Given the description of an element on the screen output the (x, y) to click on. 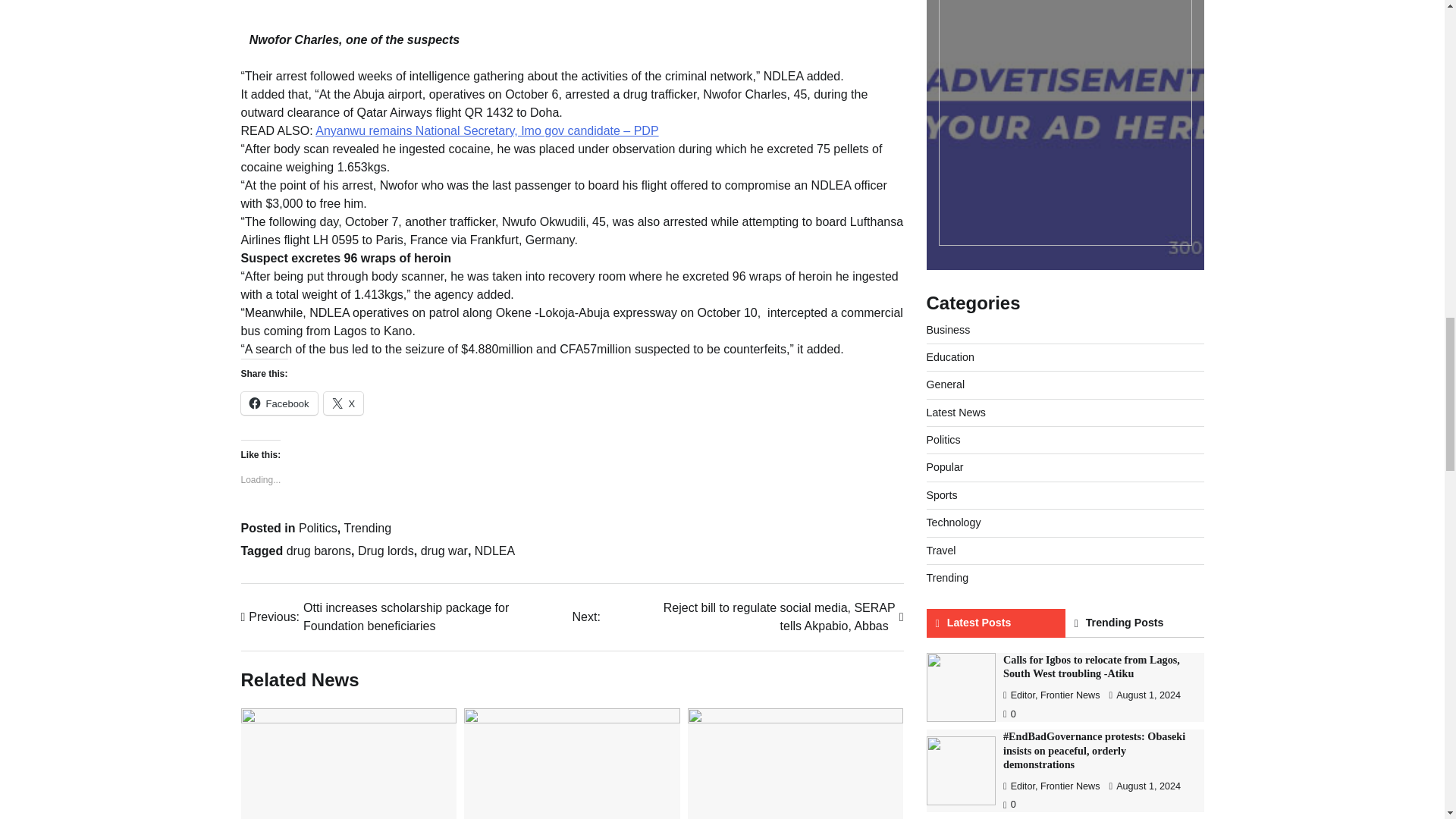
Facebook (279, 403)
NDLEA (494, 550)
Trending (367, 527)
drug war (443, 550)
Politics (317, 527)
X (343, 403)
Click to share on X (343, 403)
drug barons (318, 550)
